Given the description of an element on the screen output the (x, y) to click on. 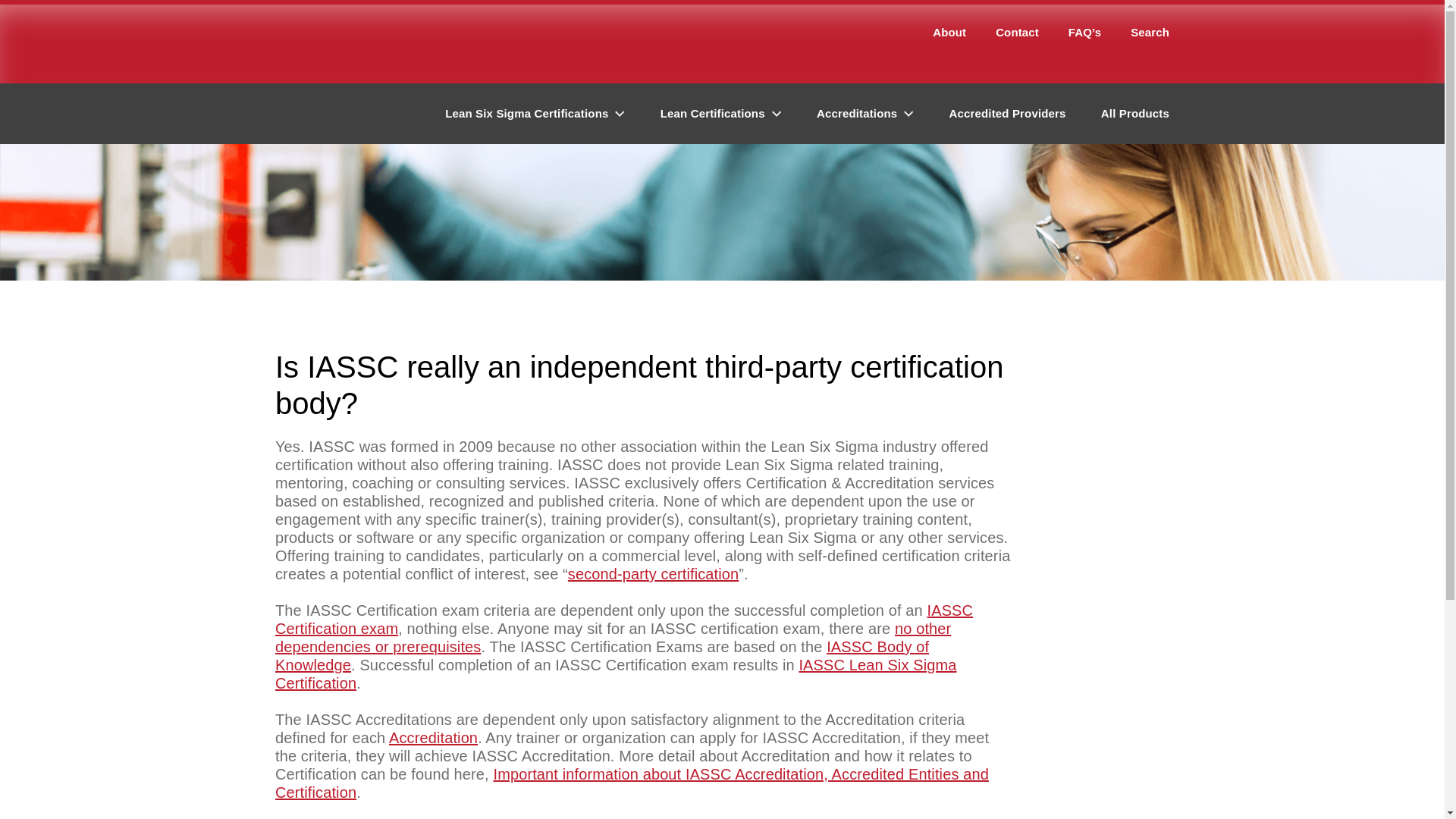
Accreditations (865, 113)
IASSC Certification exam (623, 619)
IASSC Body of Knowledge (601, 655)
About (949, 35)
Contact (1017, 35)
no other dependencies or prerequisites (612, 637)
Lean Six Sigma Certifications (534, 113)
IASSC Lean Six Sigma Certification (615, 673)
All Products (1134, 113)
Accredited Providers (1007, 113)
